Given the description of an element on the screen output the (x, y) to click on. 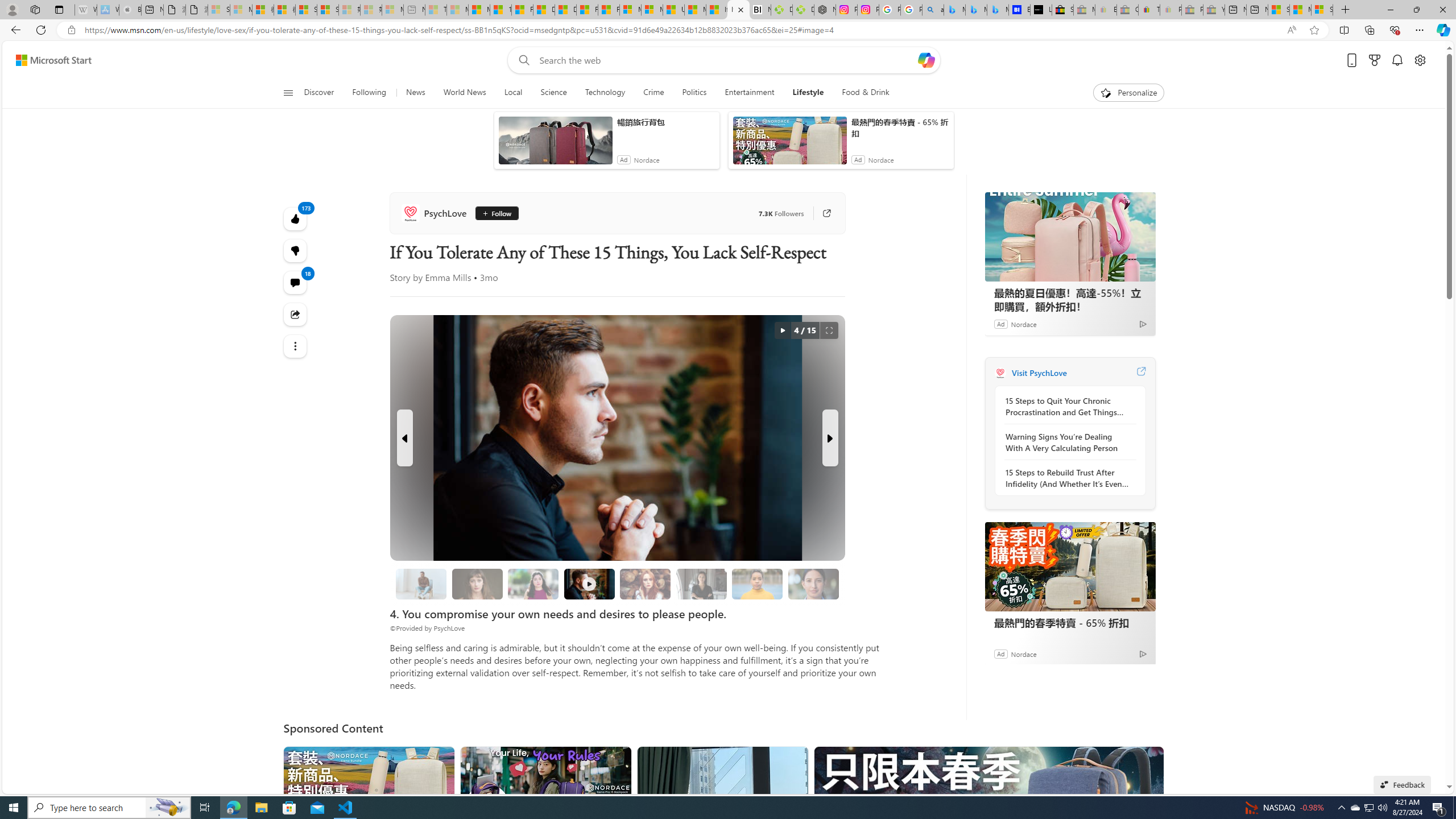
Foo BAR | Trusted Community Engagement and Contributions (608, 9)
US Heat Deaths Soared To Record High Last Year (673, 9)
Yard, Garden & Outdoor Living - Sleeping (1214, 9)
View comments 18 Comment (295, 282)
Food and Drink - MSN (522, 9)
Visit PsychLove website (1140, 372)
